Given the description of an element on the screen output the (x, y) to click on. 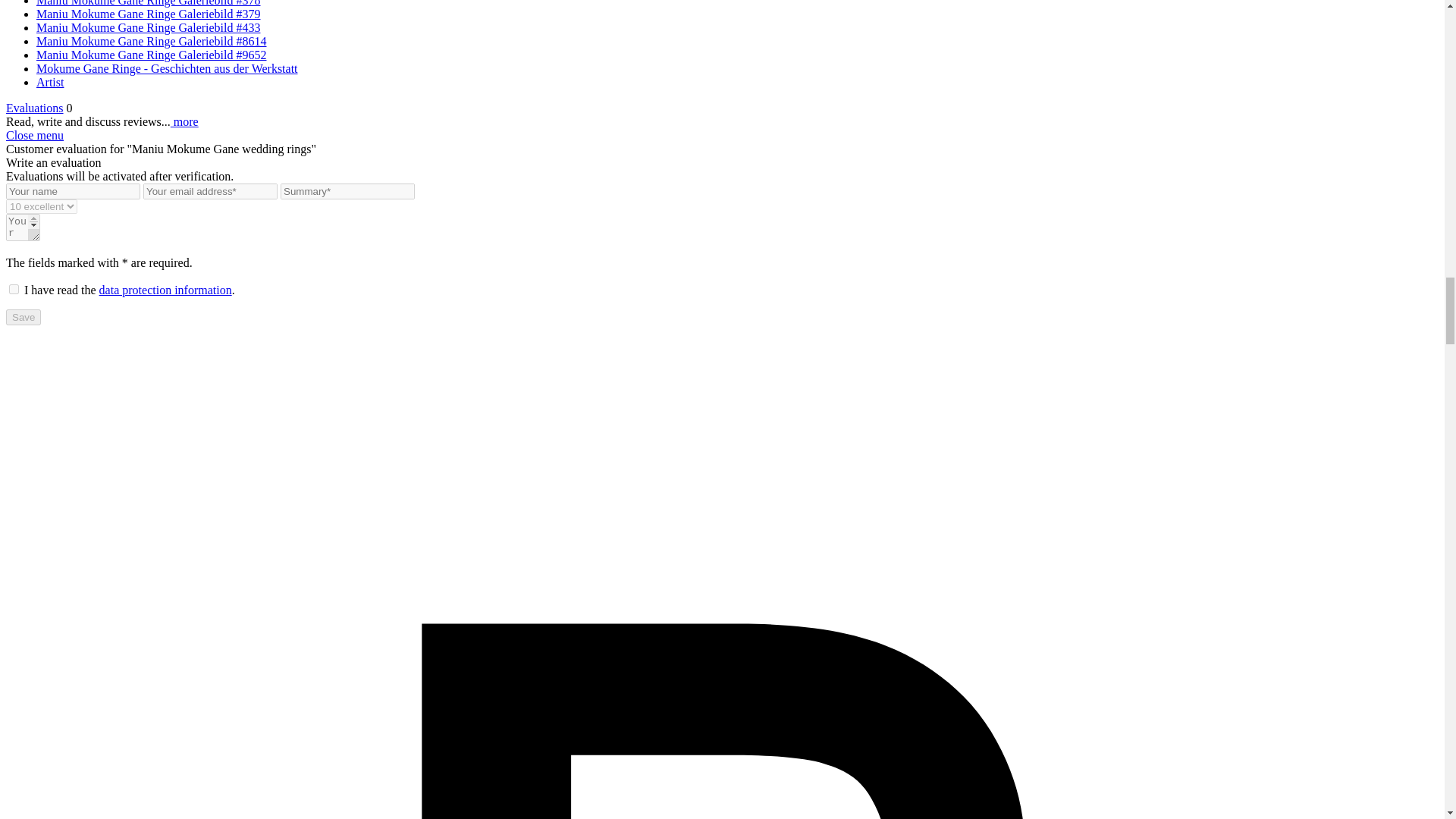
1 (13, 289)
